Given the description of an element on the screen output the (x, y) to click on. 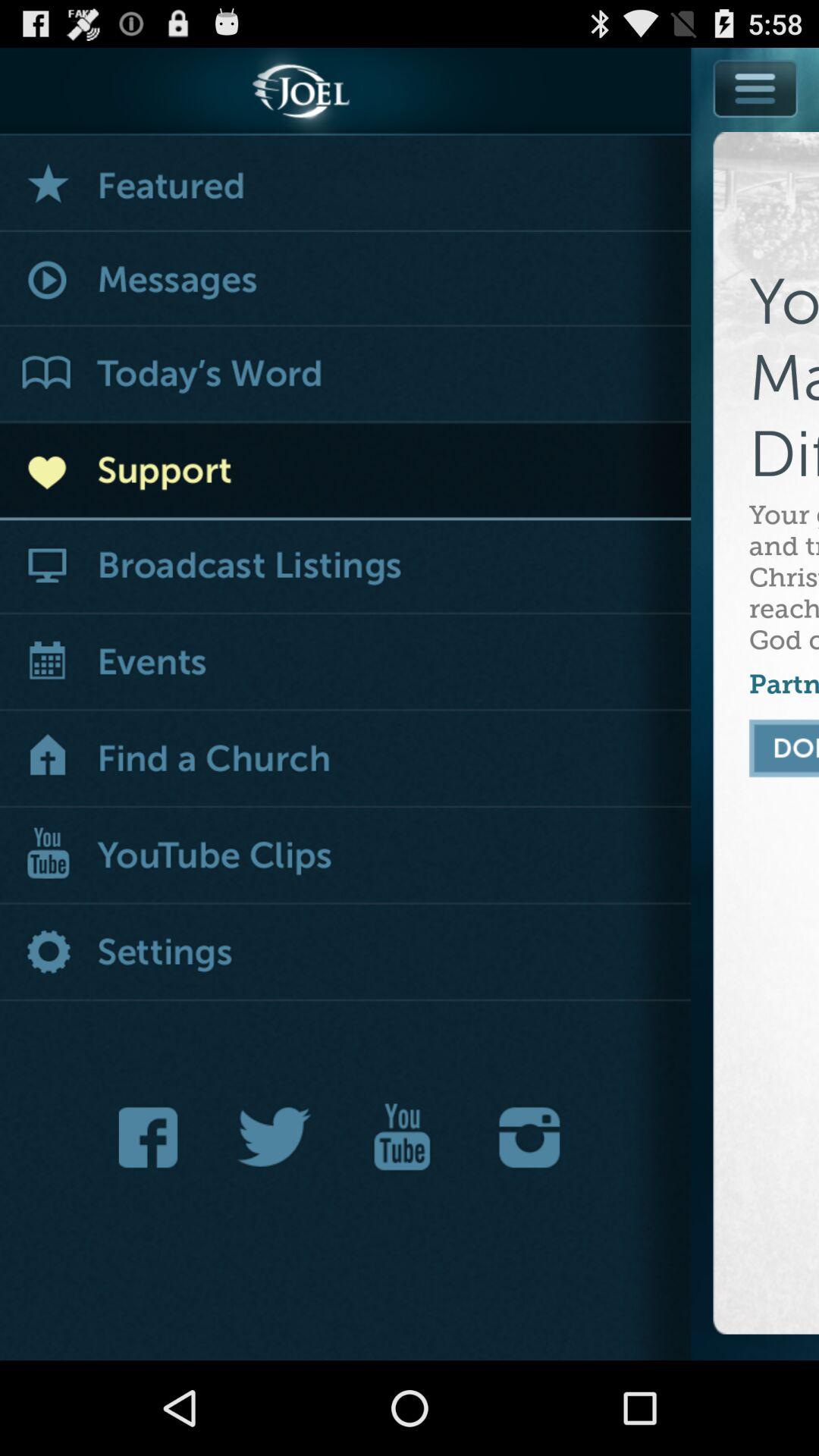
view events (345, 663)
